Given the description of an element on the screen output the (x, y) to click on. 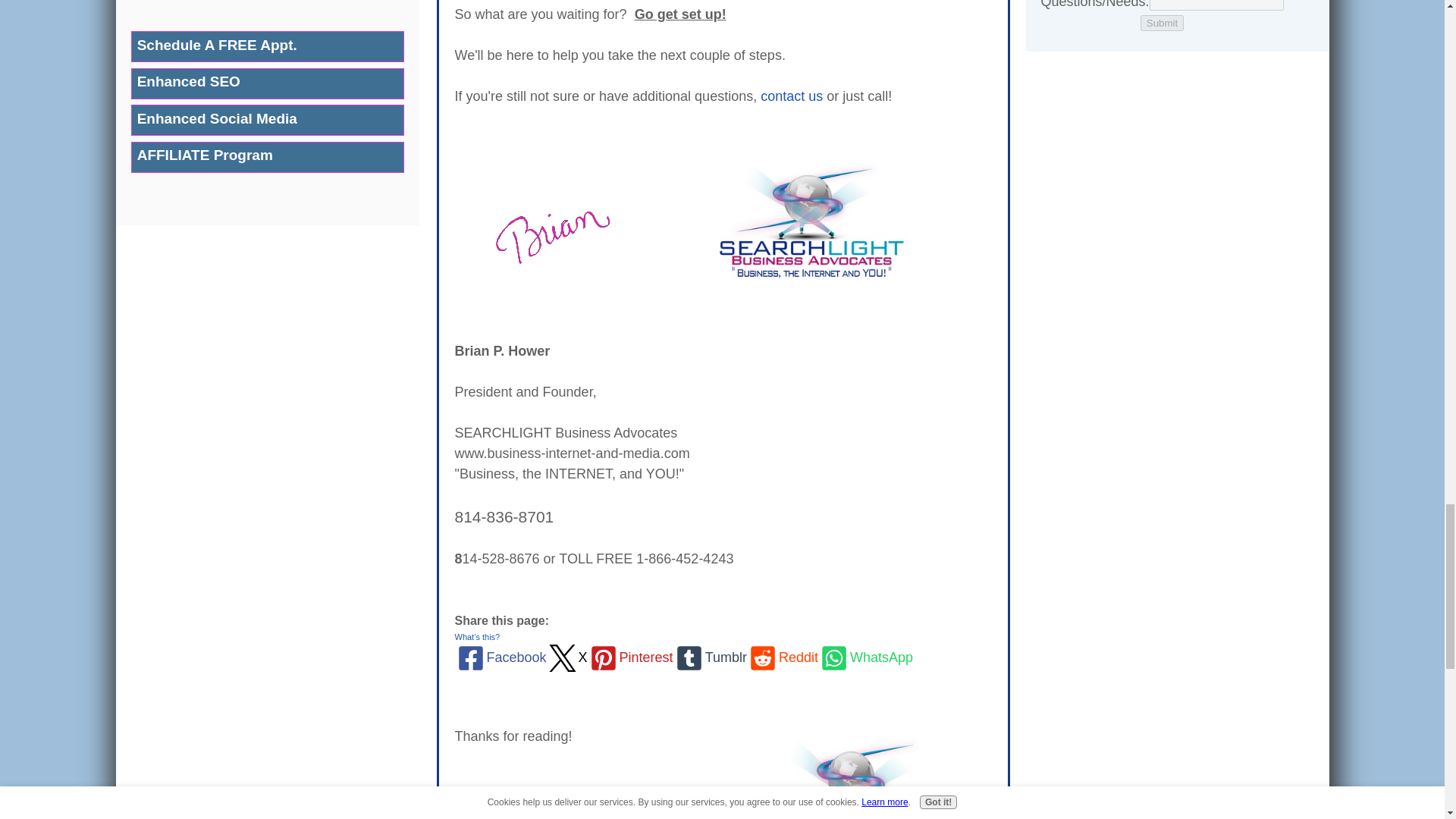
X (567, 657)
Submit (1161, 23)
contact us (791, 96)
Facebook (500, 657)
Tumblr (709, 657)
Pinterest (630, 657)
WhatsApp (865, 657)
Reddit (782, 657)
